Given the description of an element on the screen output the (x, y) to click on. 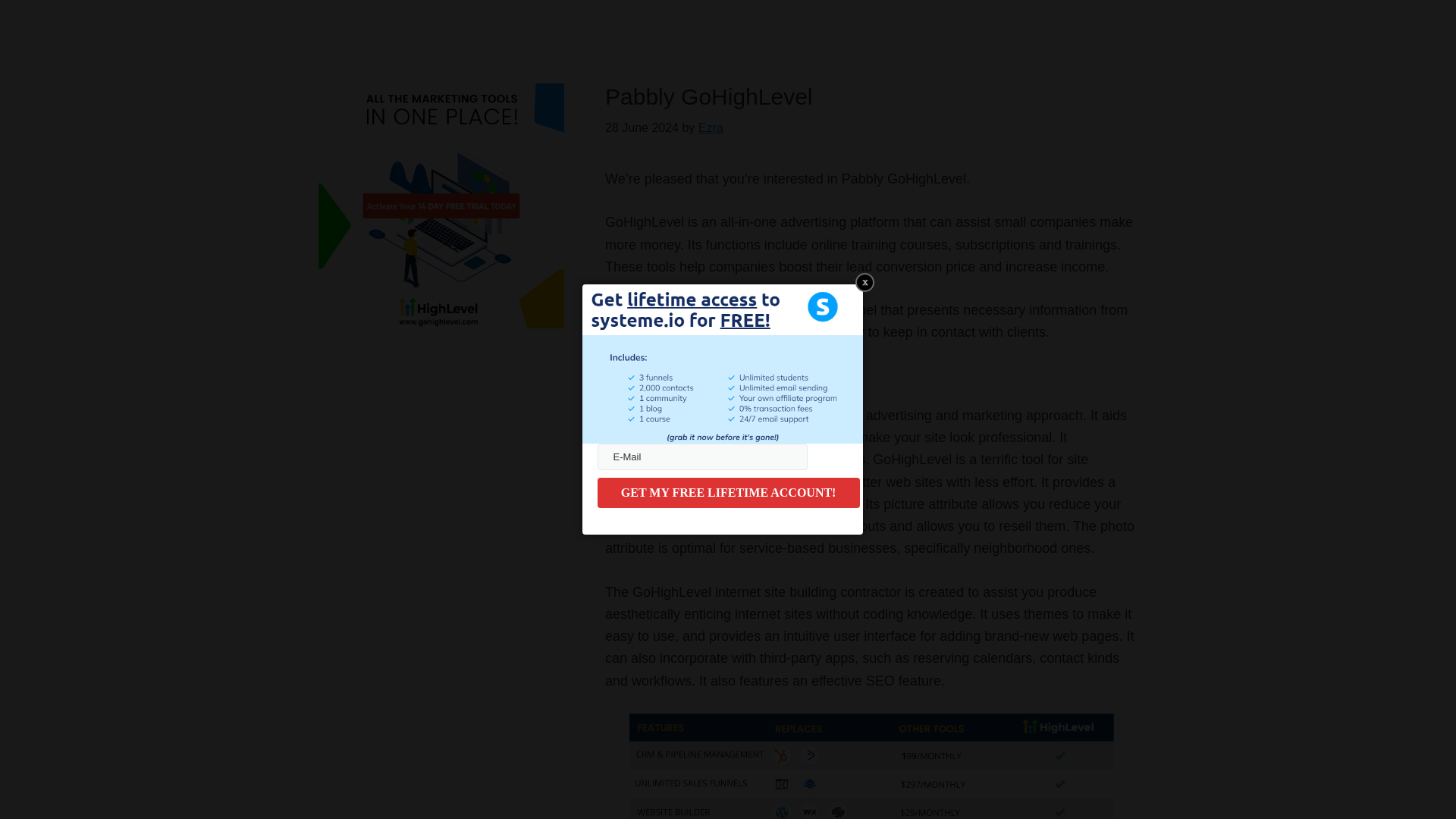
Ezra (710, 127)
GET MY FREE LIFETIME ACCOUNT! (728, 492)
GET MY FREE LIFETIME ACCOUNT! (728, 492)
